Given the description of an element on the screen output the (x, y) to click on. 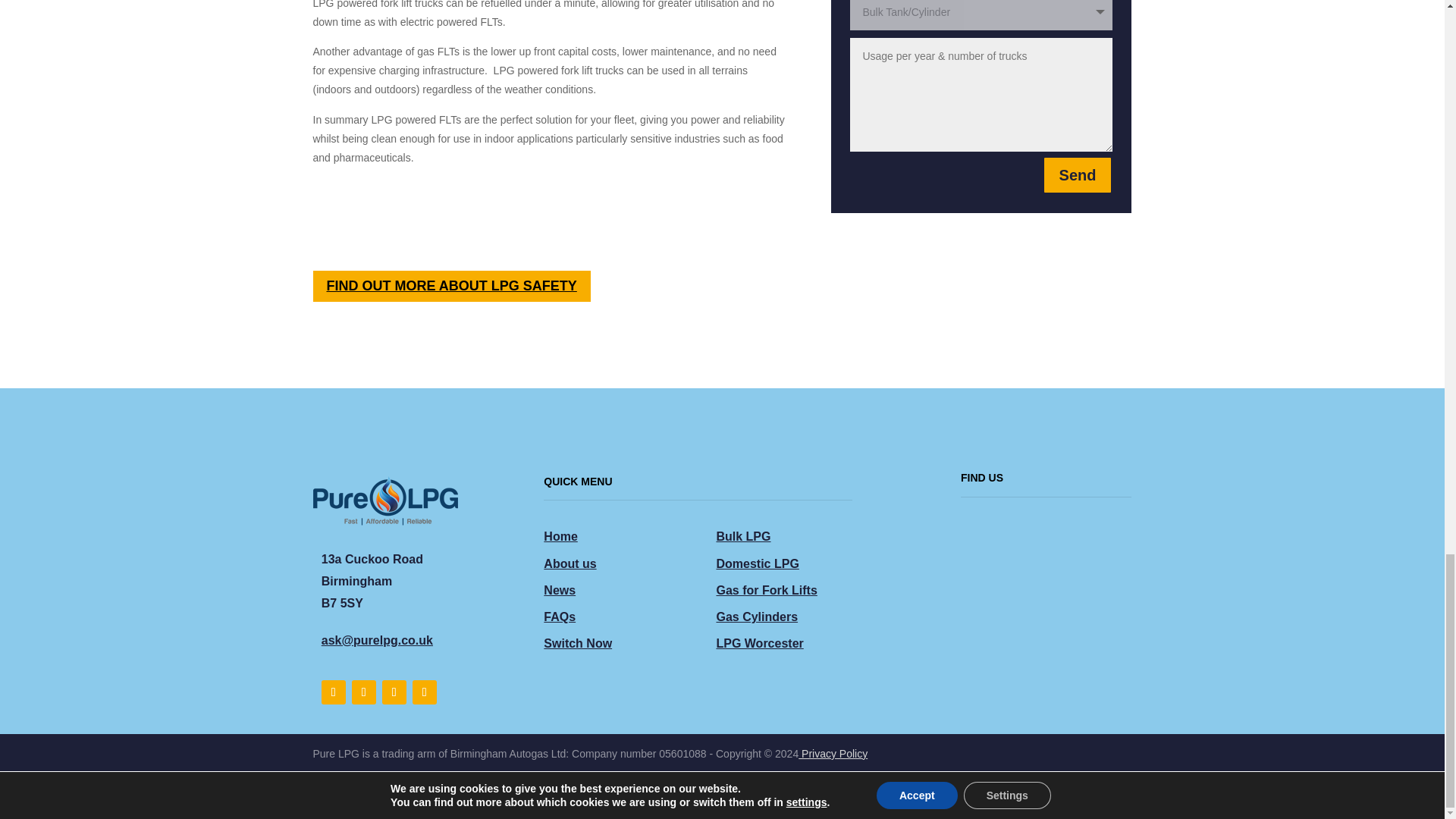
Follow on Facebook (333, 692)
Pure LPG Gas Logo (385, 497)
Follow on Instagram (393, 692)
FIND OUT MORE ABOUT LPG SAFETY (451, 286)
Follow on LinkedIn (424, 692)
Follow on X (363, 692)
About us (569, 563)
Send (1077, 175)
Home (559, 535)
